Given the description of an element on the screen output the (x, y) to click on. 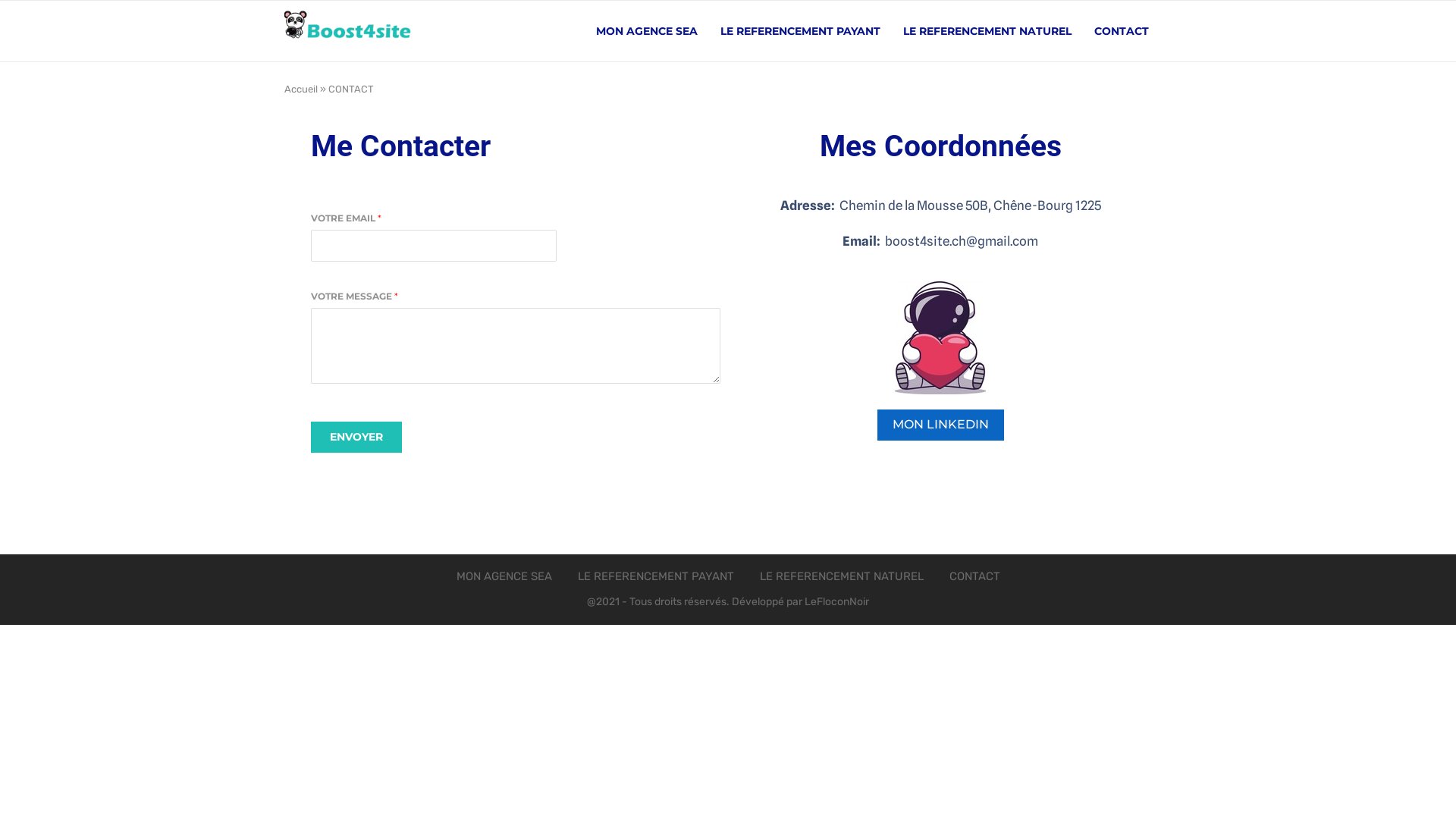
ENVOYER Element type: text (355, 436)
CONTACT Element type: text (974, 576)
MON LINKEDIN Element type: text (939, 424)
CONTACT Element type: text (1121, 30)
LE REFERENCEMENT NATUREL Element type: text (987, 30)
LE REFERENCEMENT PAYANT Element type: text (655, 576)
MON AGENCE SEA Element type: text (646, 30)
LE REFERENCEMENT NATUREL Element type: text (841, 576)
MON AGENCE SEA Element type: text (504, 576)
LE REFERENCEMENT PAYANT Element type: text (800, 30)
Accueil Element type: text (300, 88)
